Given the description of an element on the screen output the (x, y) to click on. 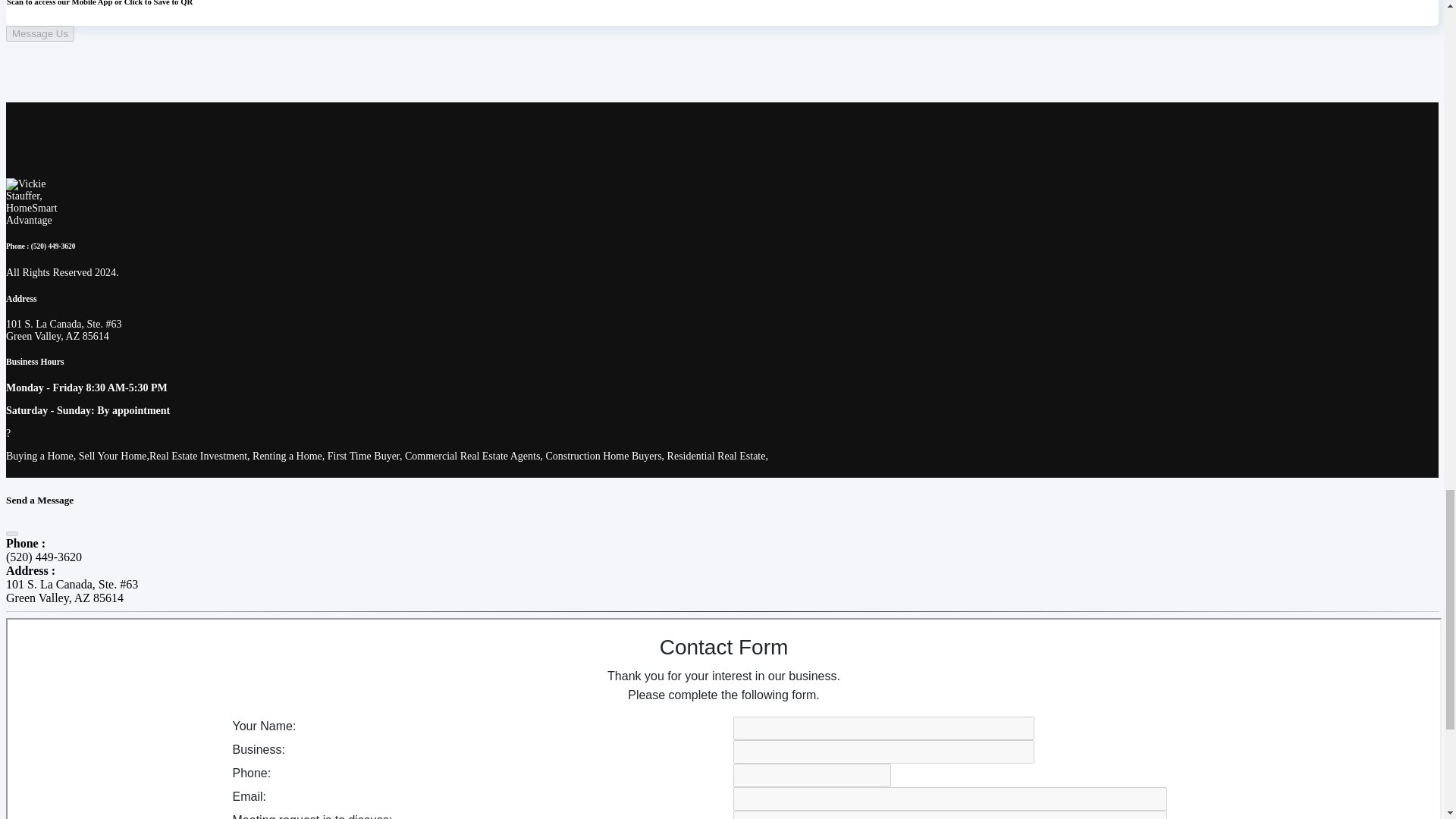
Message Us (39, 33)
